Given the description of an element on the screen output the (x, y) to click on. 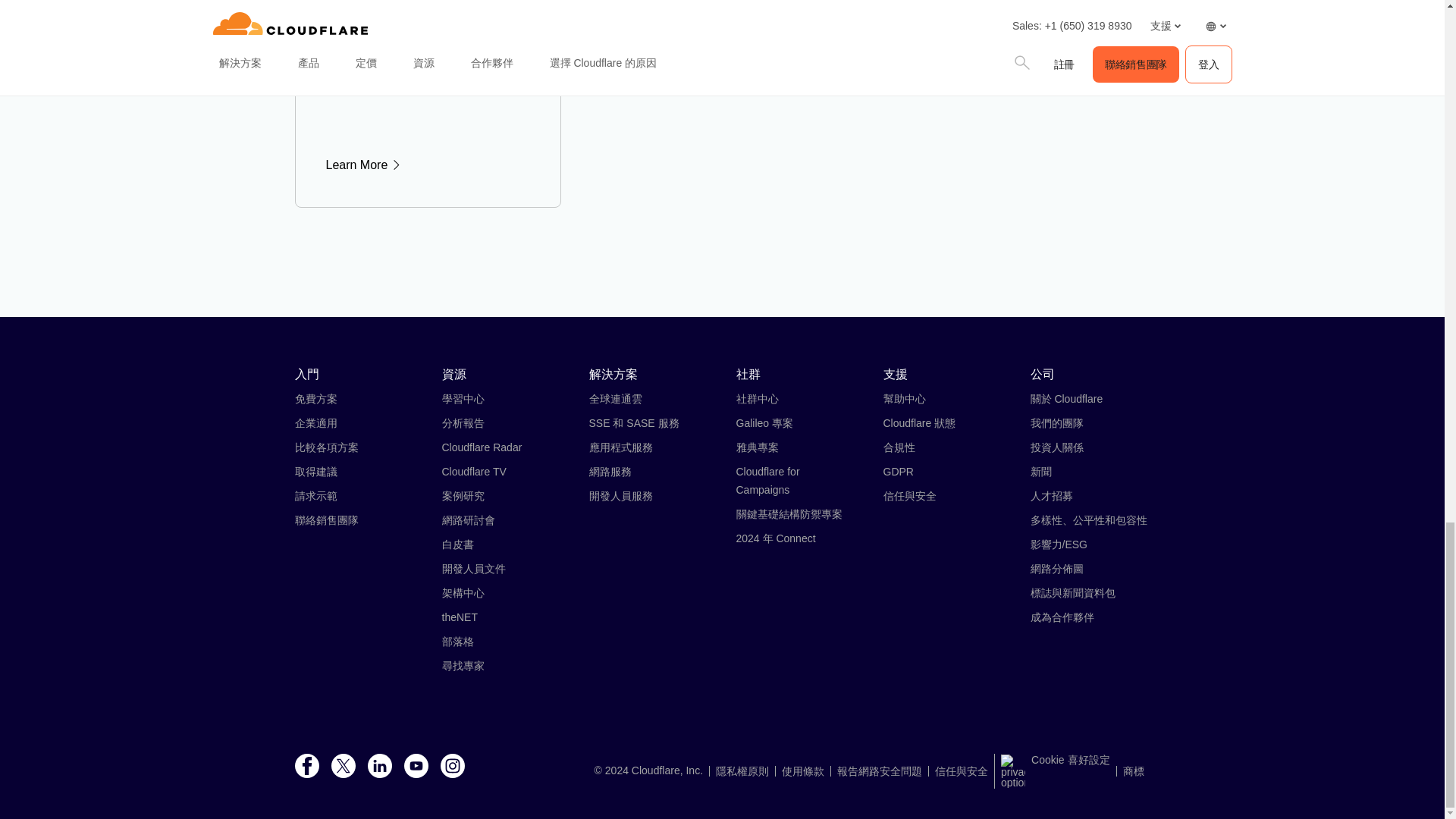
Instagram (451, 766)
Facebook (306, 766)
Youtube (415, 766)
Learn More (428, 165)
X (342, 766)
LinkedIn (378, 766)
